Given the description of an element on the screen output the (x, y) to click on. 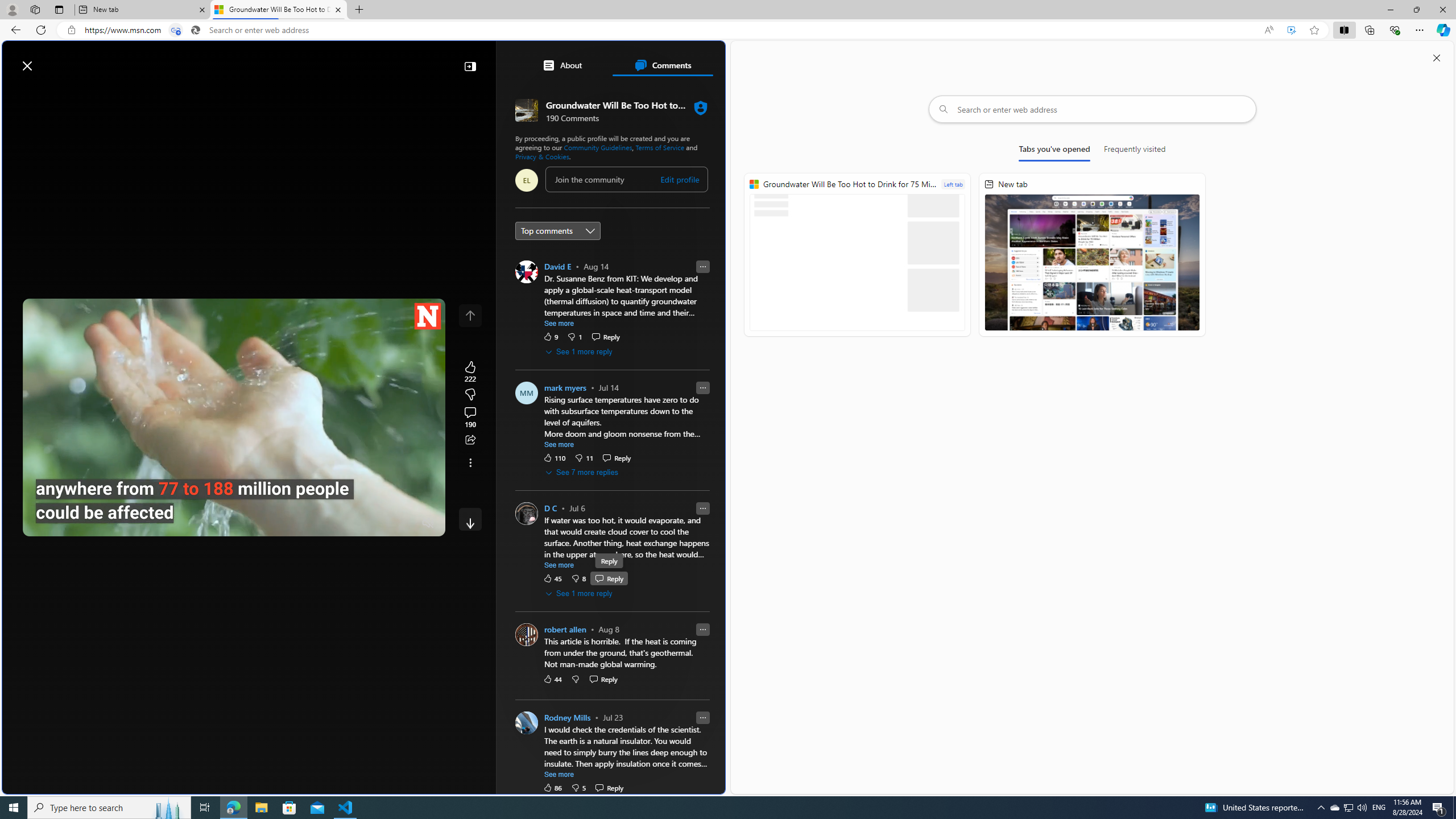
The Associated Press (554, 366)
comment-box (625, 179)
About (561, 64)
Search icon (195, 29)
Sort comments by (557, 230)
Privacy & Cookies (542, 156)
Watch (141, 92)
Frequently visited (1134, 151)
Community Guidelines (597, 146)
